Given the description of an element on the screen output the (x, y) to click on. 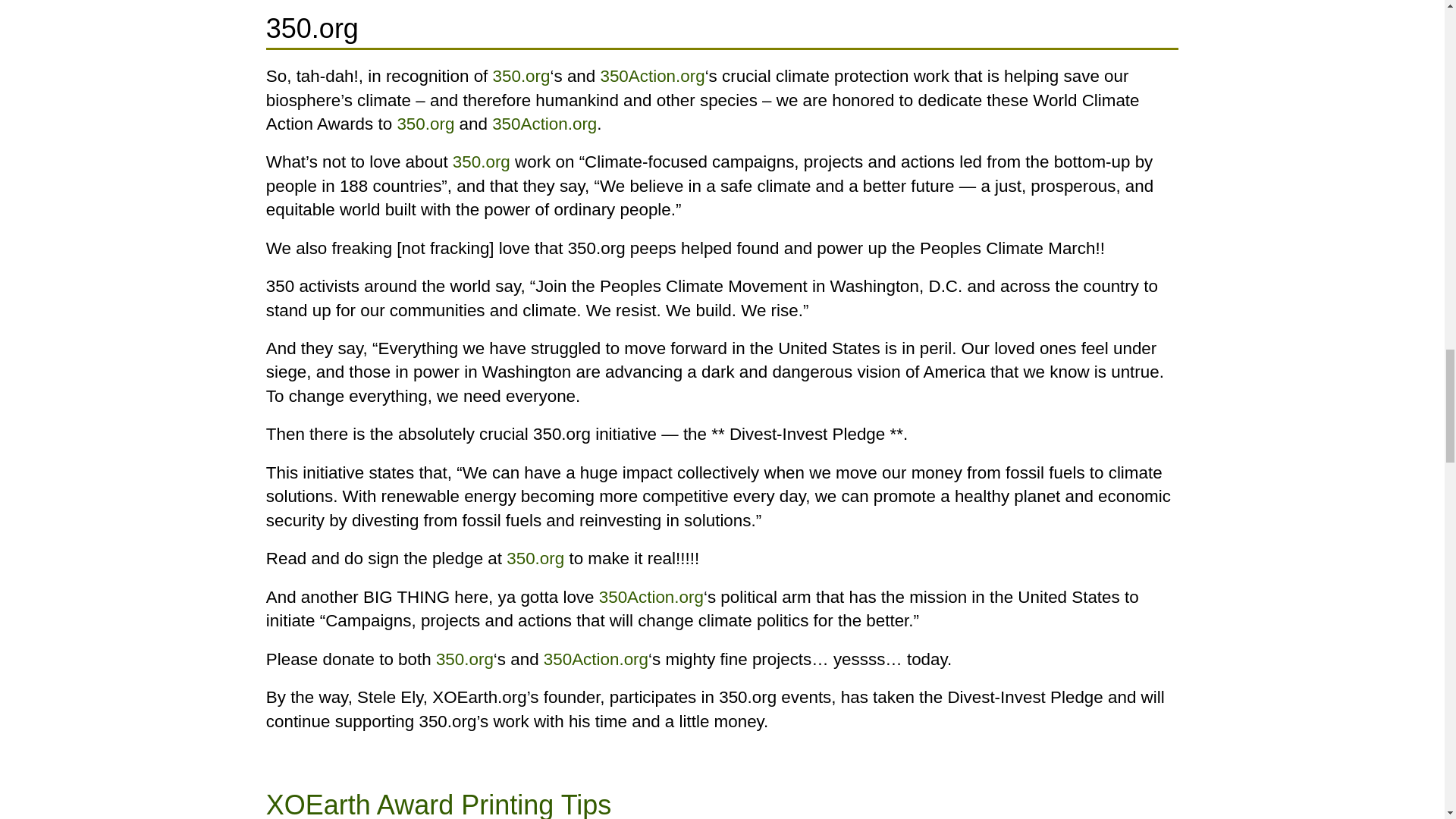
350.org (521, 75)
350Action.org (651, 75)
